Given the description of an element on the screen output the (x, y) to click on. 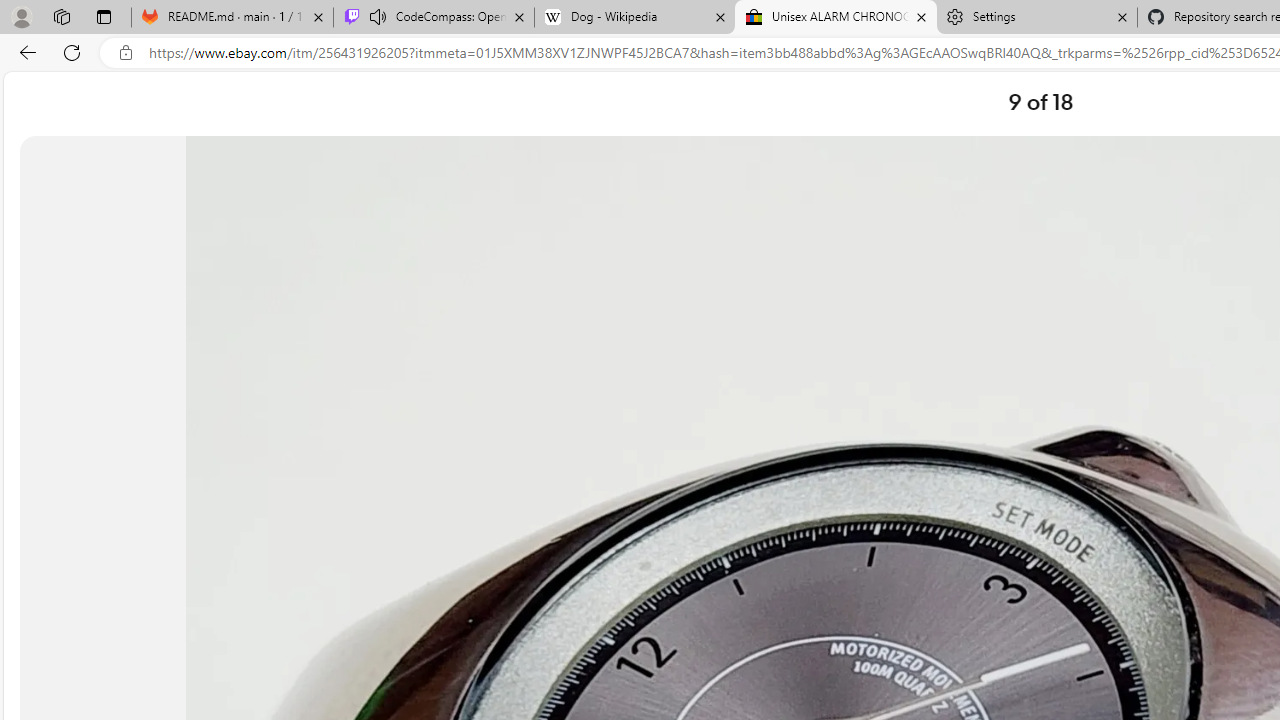
Mute tab (377, 16)
Dog - Wikipedia (634, 17)
